Given the description of an element on the screen output the (x, y) to click on. 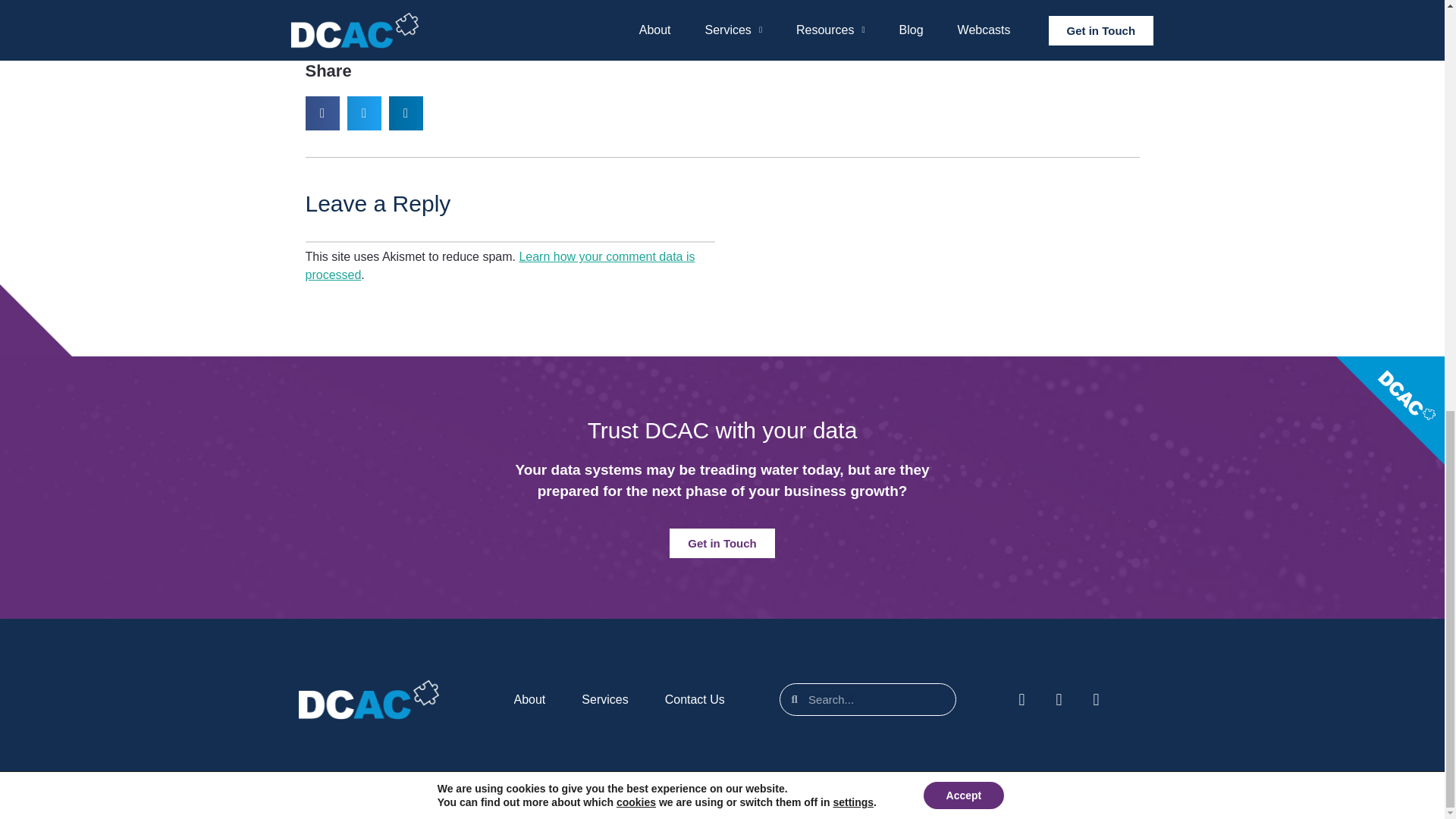
SQL Saturday 111 Slide Decks (725, 11)
